Given the description of an element on the screen output the (x, y) to click on. 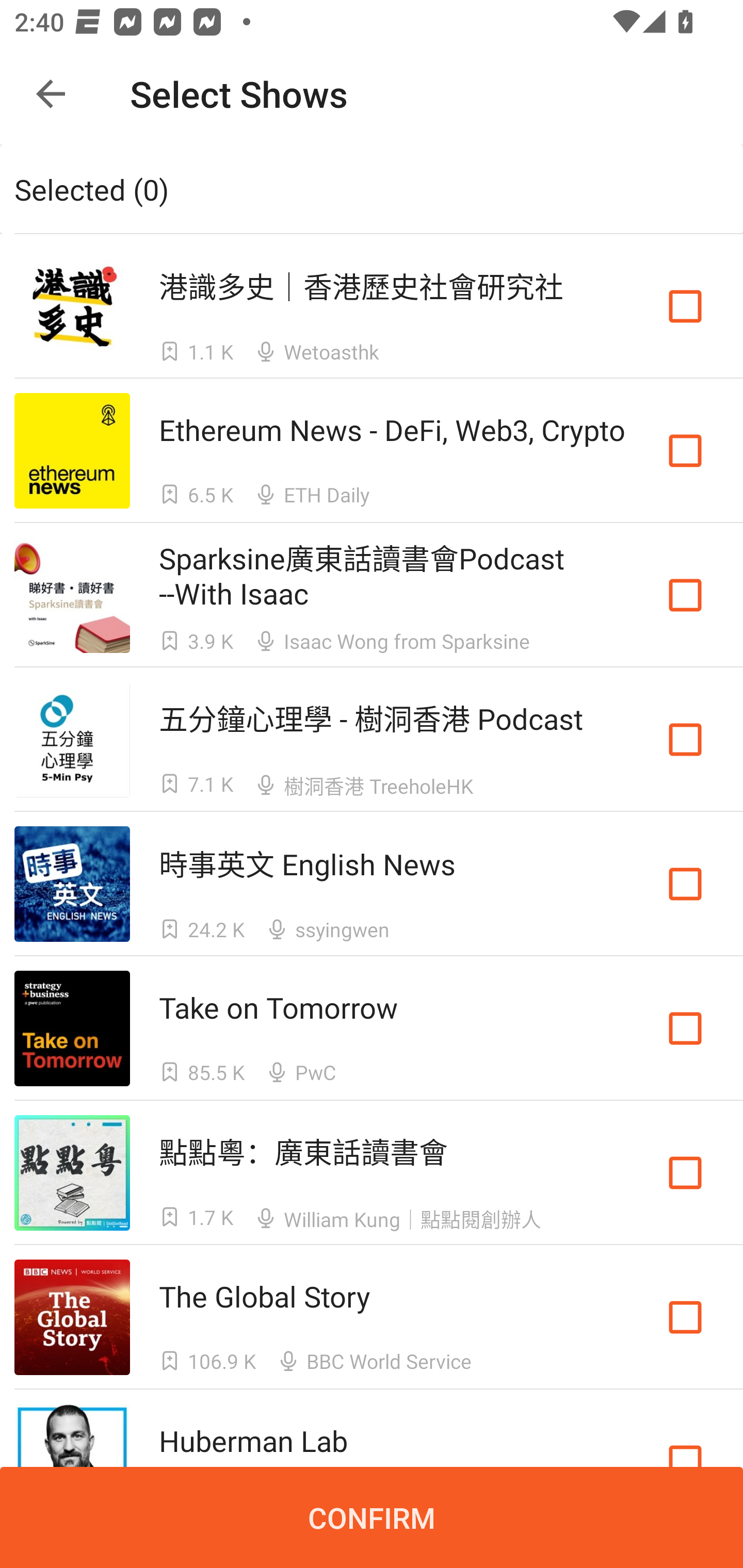
Navigate up (50, 93)
港識多史｜香港歷史社會研究社 港識多史｜香港歷史社會研究社  1.1 K  Wetoasthk (371, 305)
Take on Tomorrow Take on Tomorrow  85.5 K  PwC (371, 1028)
CONFIRM (371, 1517)
